Given the description of an element on the screen output the (x, y) to click on. 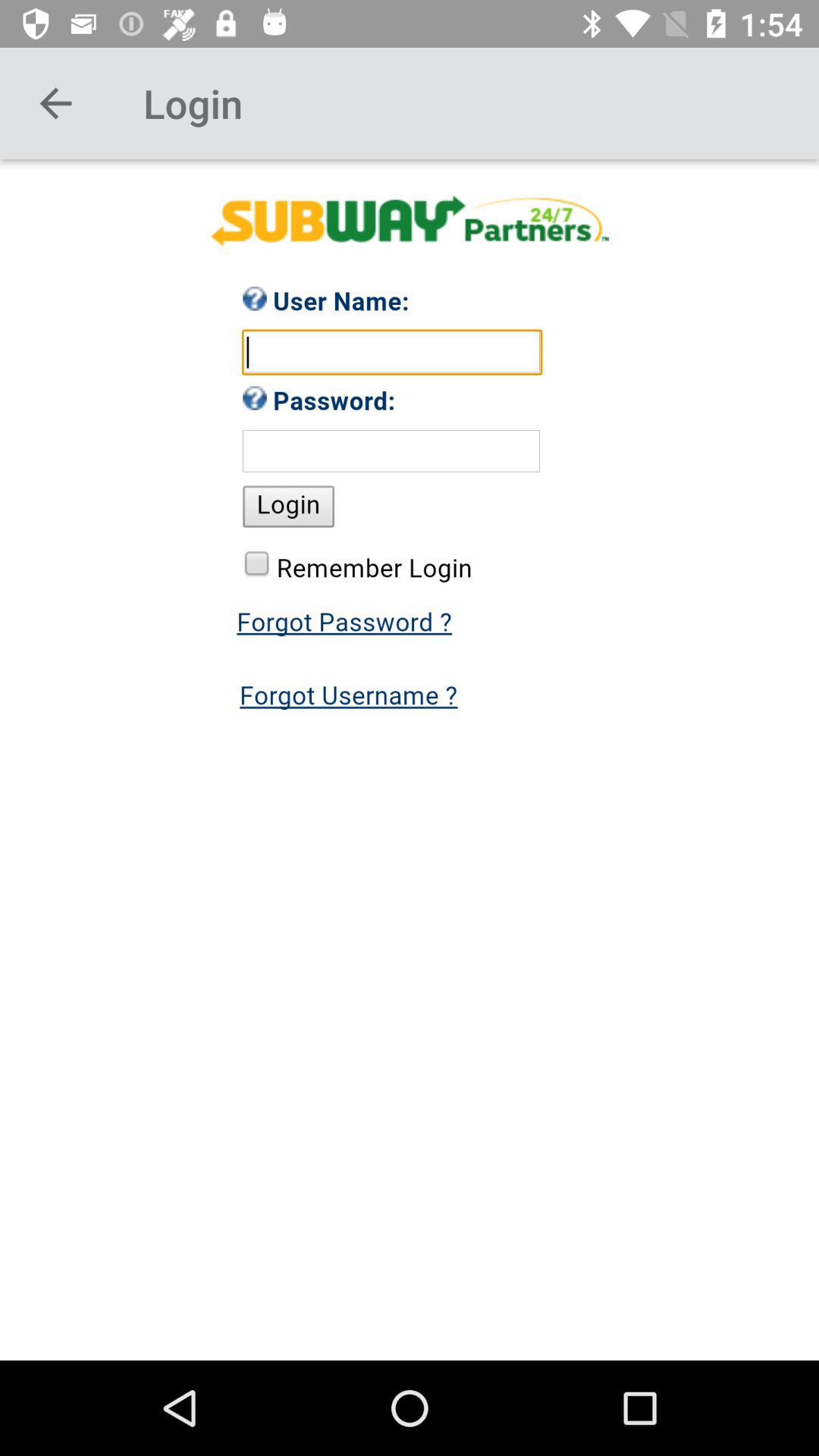
password page (409, 759)
